Given the description of an element on the screen output the (x, y) to click on. 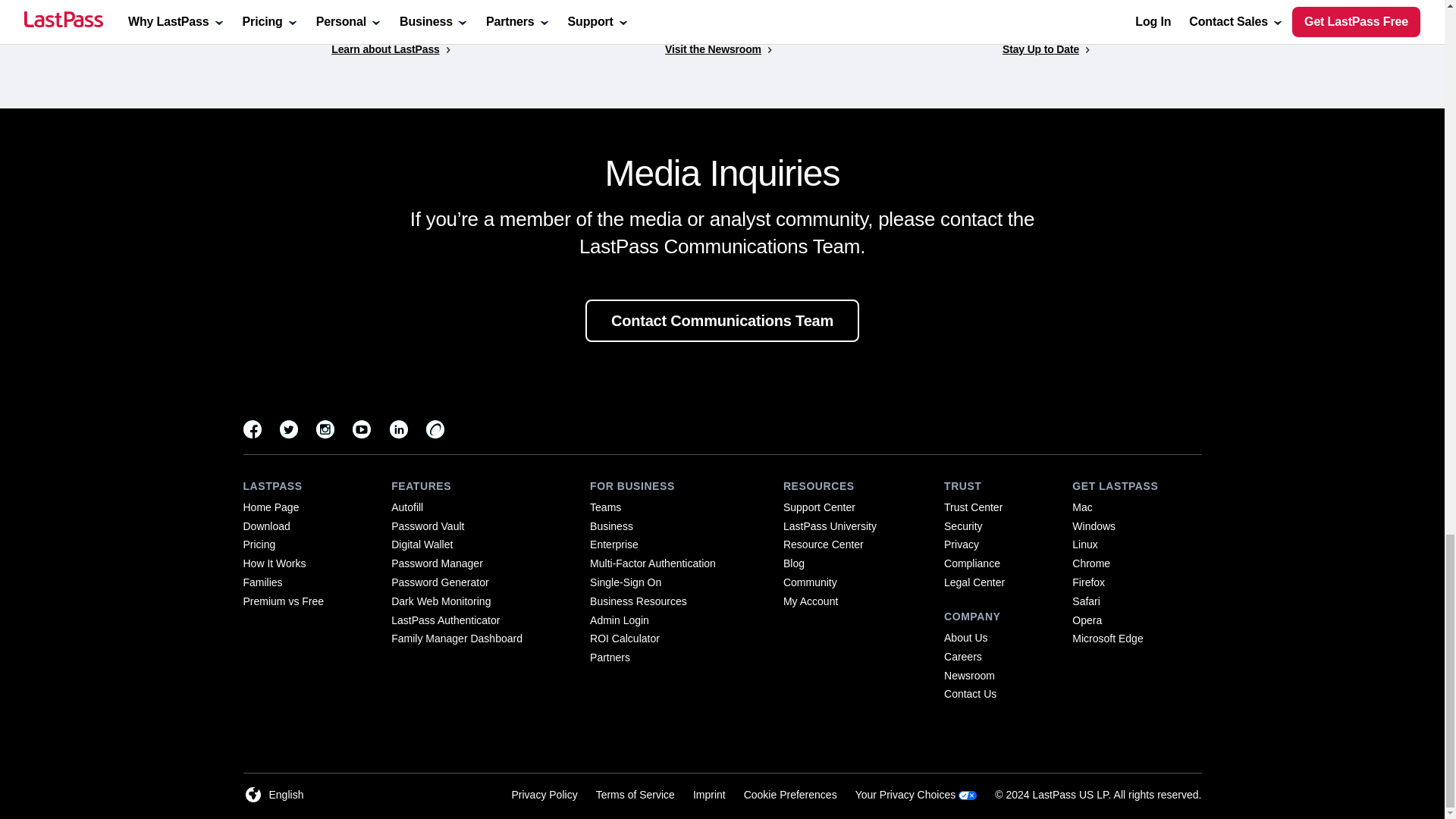
Contact Us (969, 693)
